Given the description of an element on the screen output the (x, y) to click on. 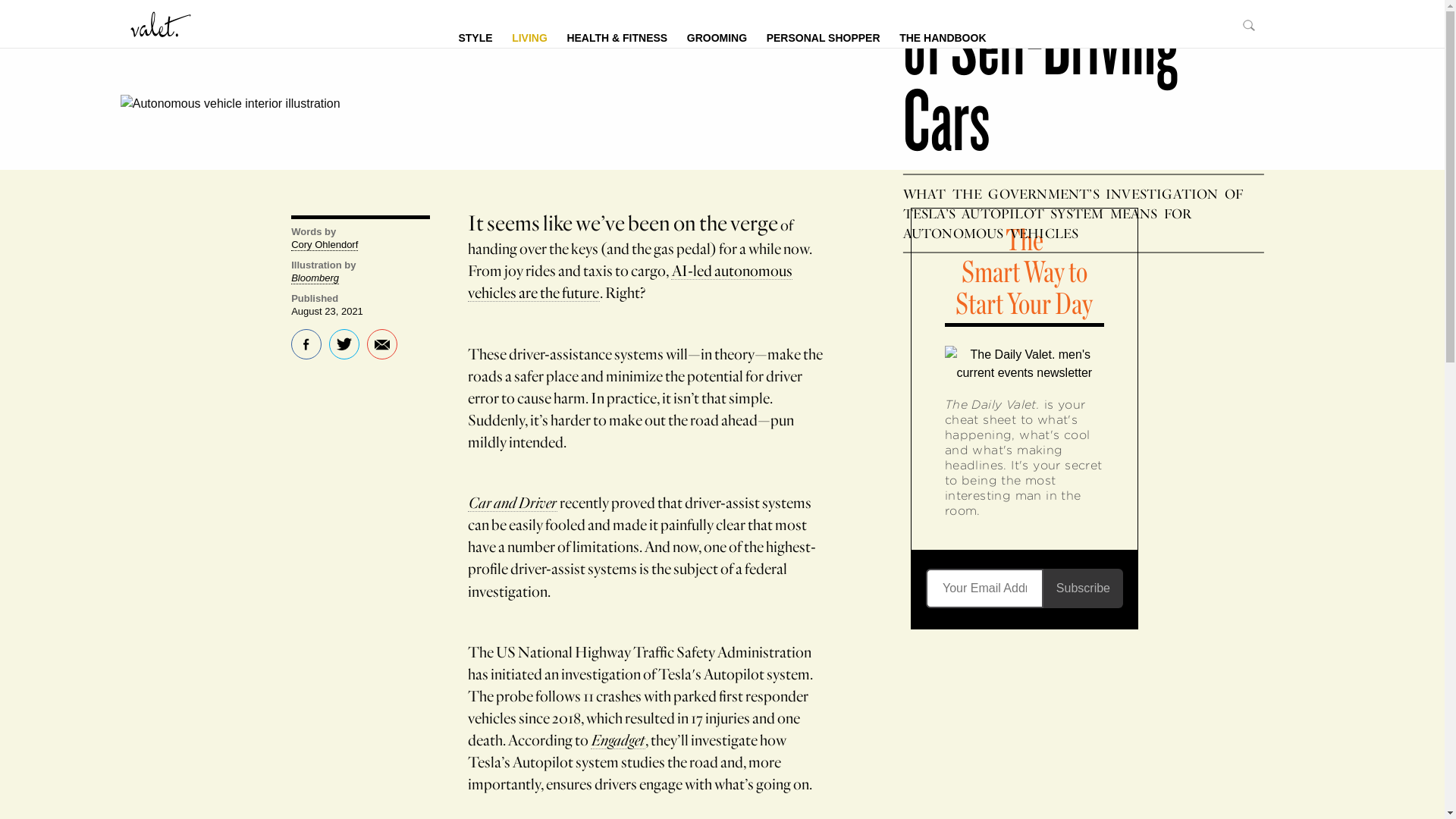
GROOMING (717, 35)
AI-led autonomous vehicles are the future (629, 281)
Valet. living section (529, 35)
Car and Driver (512, 502)
Valet. personal shopper section (823, 35)
Valet. homepage (160, 22)
LIVING (529, 35)
Valet. style section (475, 35)
THE HANDBOOK (942, 35)
Valet. health and fitness section (617, 35)
